Given the description of an element on the screen output the (x, y) to click on. 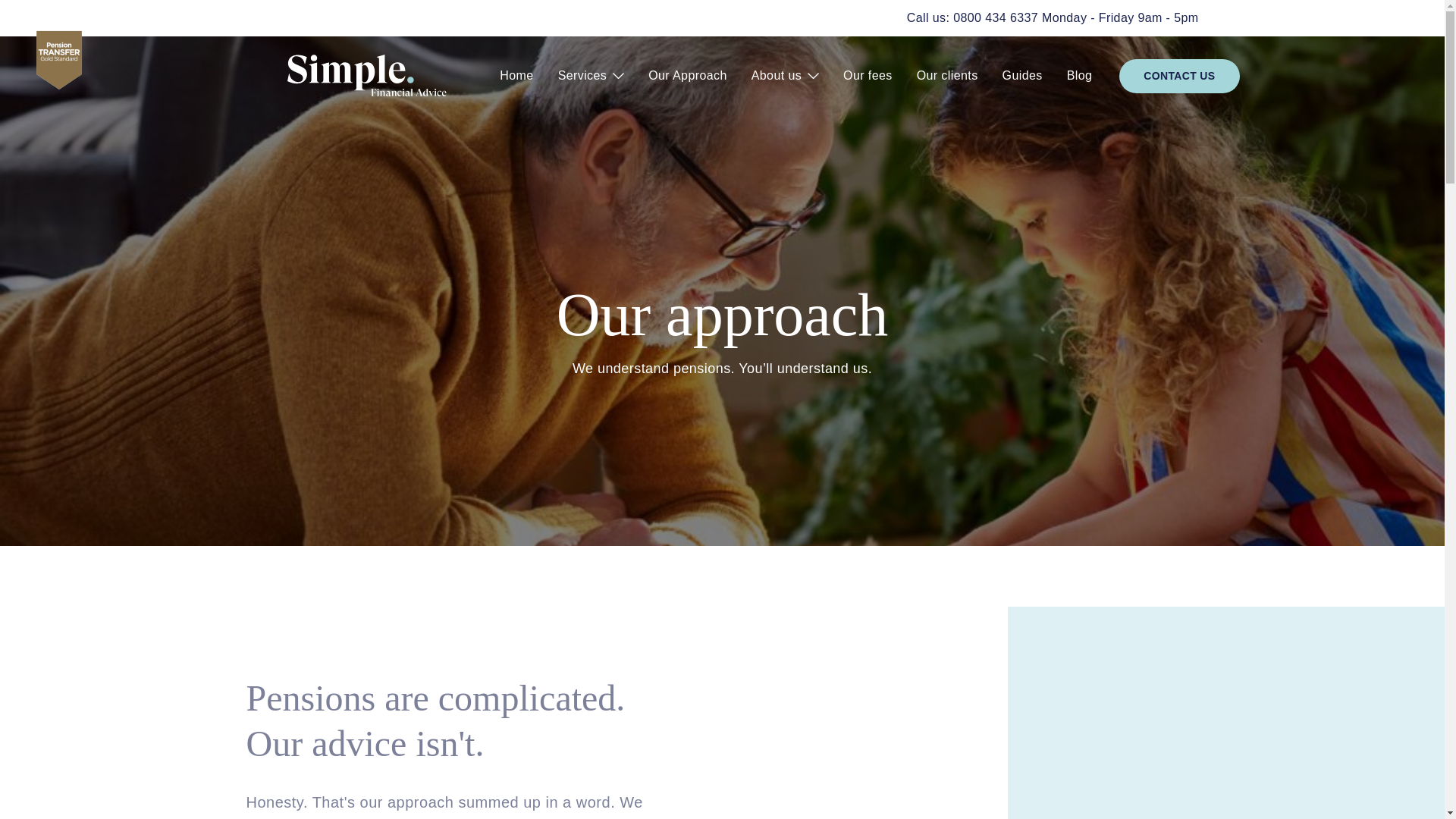
CONTACT US (1179, 75)
About us (785, 75)
Guides (1022, 75)
Our Approach (687, 75)
Our clients (947, 75)
Home (515, 75)
Our fees (867, 75)
0800 434 6337 (995, 17)
Services (591, 75)
Blog (1079, 75)
